Given the description of an element on the screen output the (x, y) to click on. 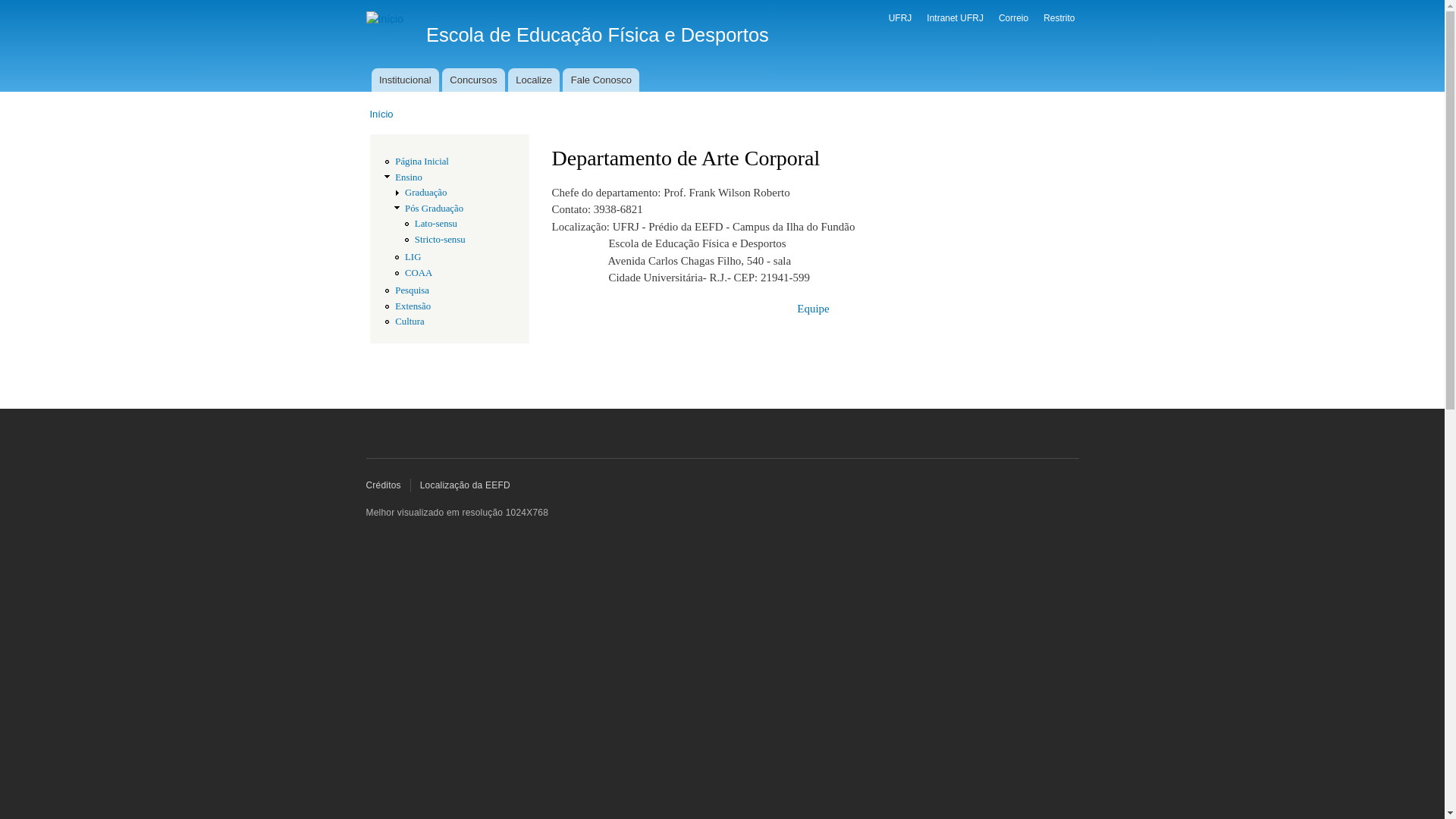
Intranet UFRJ Element type: text (954, 17)
Localize Element type: text (533, 79)
LIG Element type: text (412, 256)
Pesquisa Element type: text (412, 290)
Equipe Element type: text (812, 308)
Correio Element type: text (1013, 17)
COAA Element type: text (418, 272)
Stricto-sensu Element type: text (439, 239)
Fale Conosco Element type: text (600, 79)
UFRJ Element type: text (900, 17)
Ensino Element type: text (408, 177)
Lato-sensu Element type: text (435, 223)
Concursos Element type: text (473, 79)
Cultura Element type: text (409, 321)
Restrito Element type: text (1058, 17)
Institucional Element type: text (405, 79)
